Given the description of an element on the screen output the (x, y) to click on. 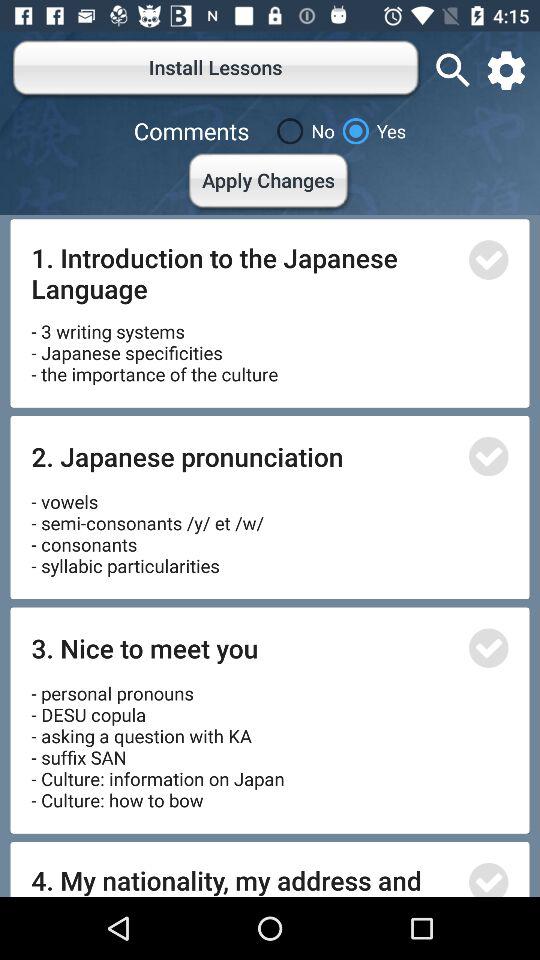
scroll to the 1 introduction to item (243, 272)
